Given the description of an element on the screen output the (x, y) to click on. 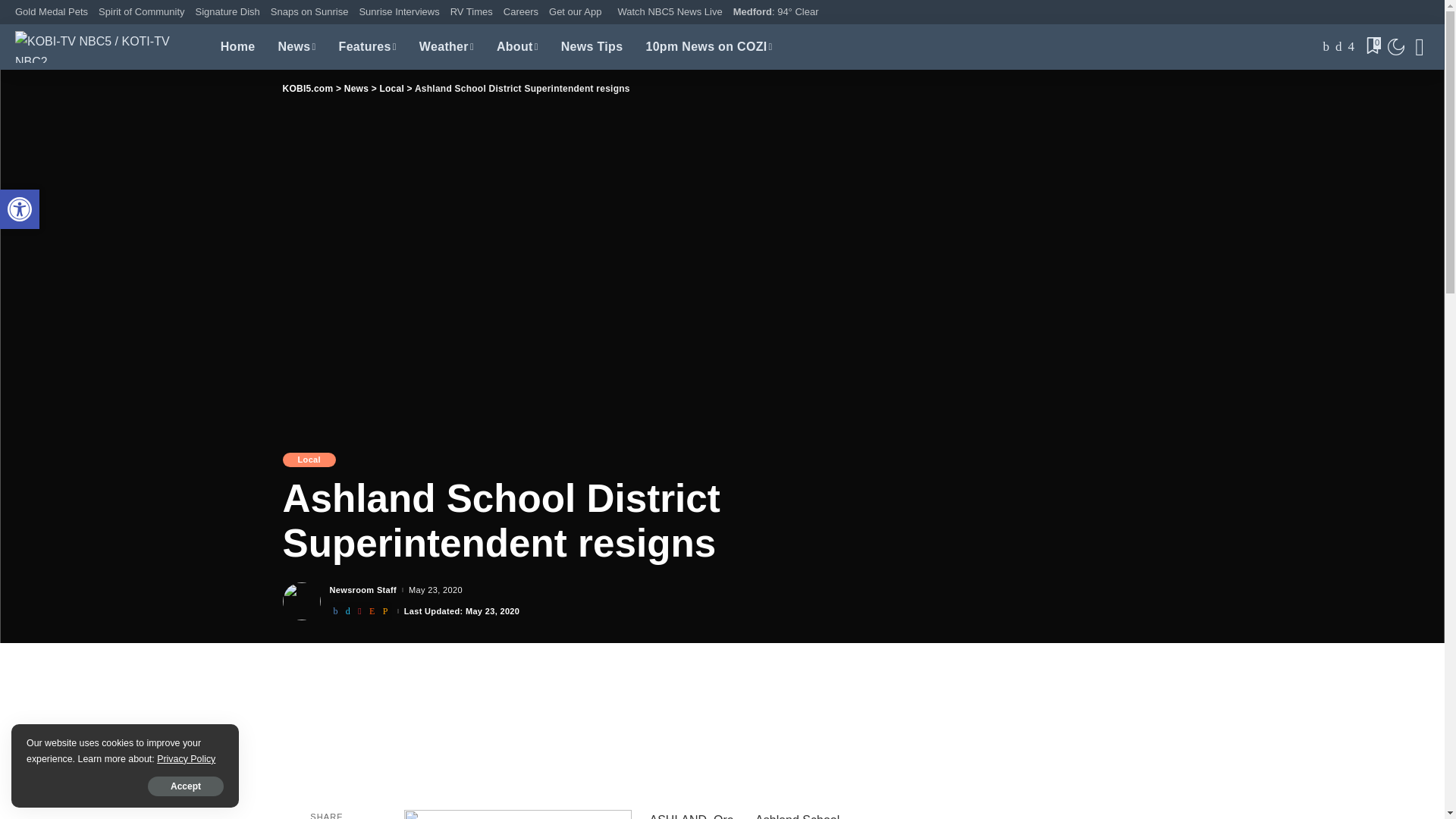
Go to the Local category archives. (391, 88)
Accessibility Tools (19, 209)
Accessibility Tools (19, 209)
2020-05-23T22:47:12-07:00 (19, 209)
Go to the News category archives. (436, 589)
